Given the description of an element on the screen output the (x, y) to click on. 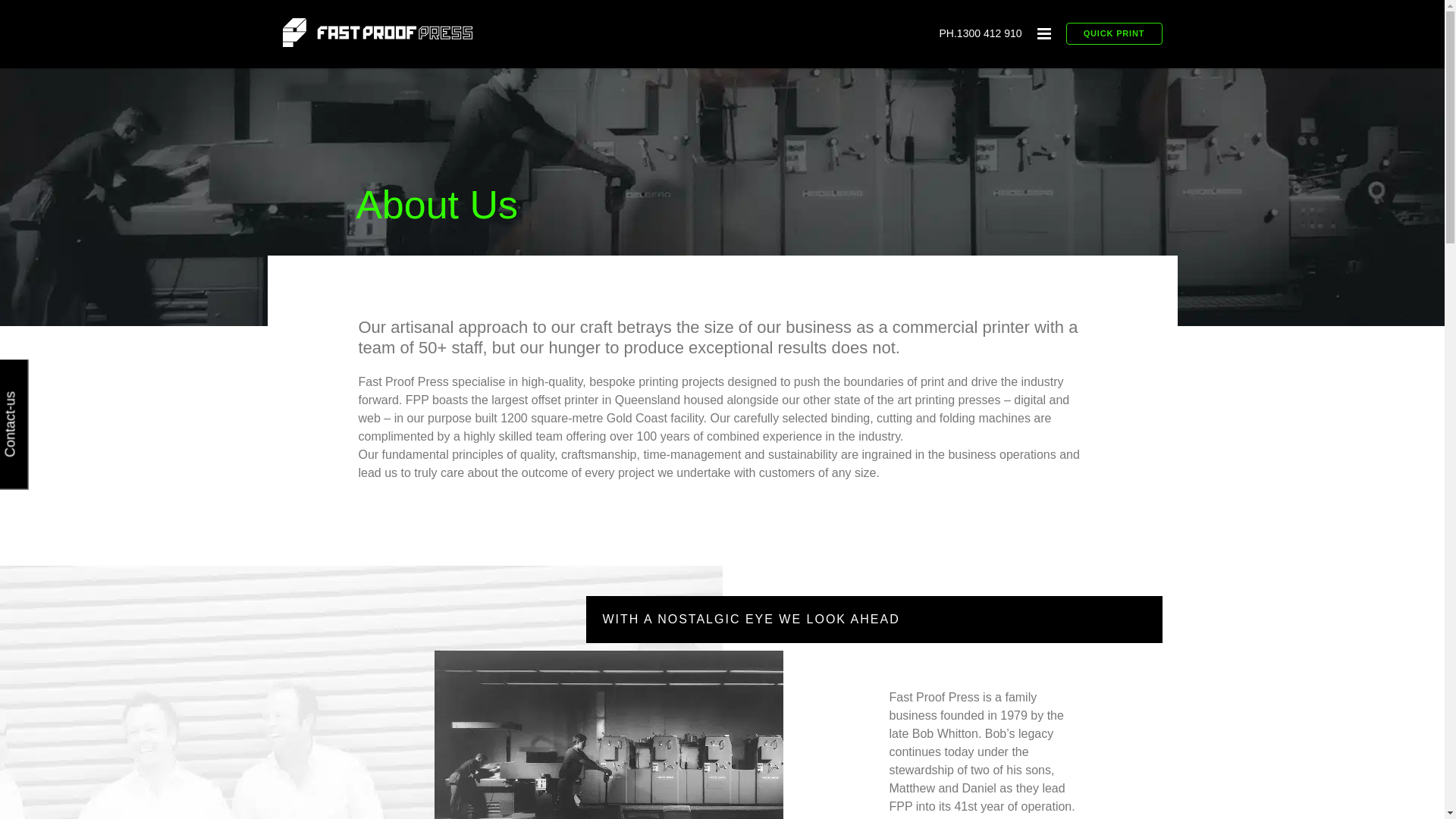
QUICK PRINT Element type: text (1114, 22)
1300 412 910 Element type: text (989, 33)
